Given the description of an element on the screen output the (x, y) to click on. 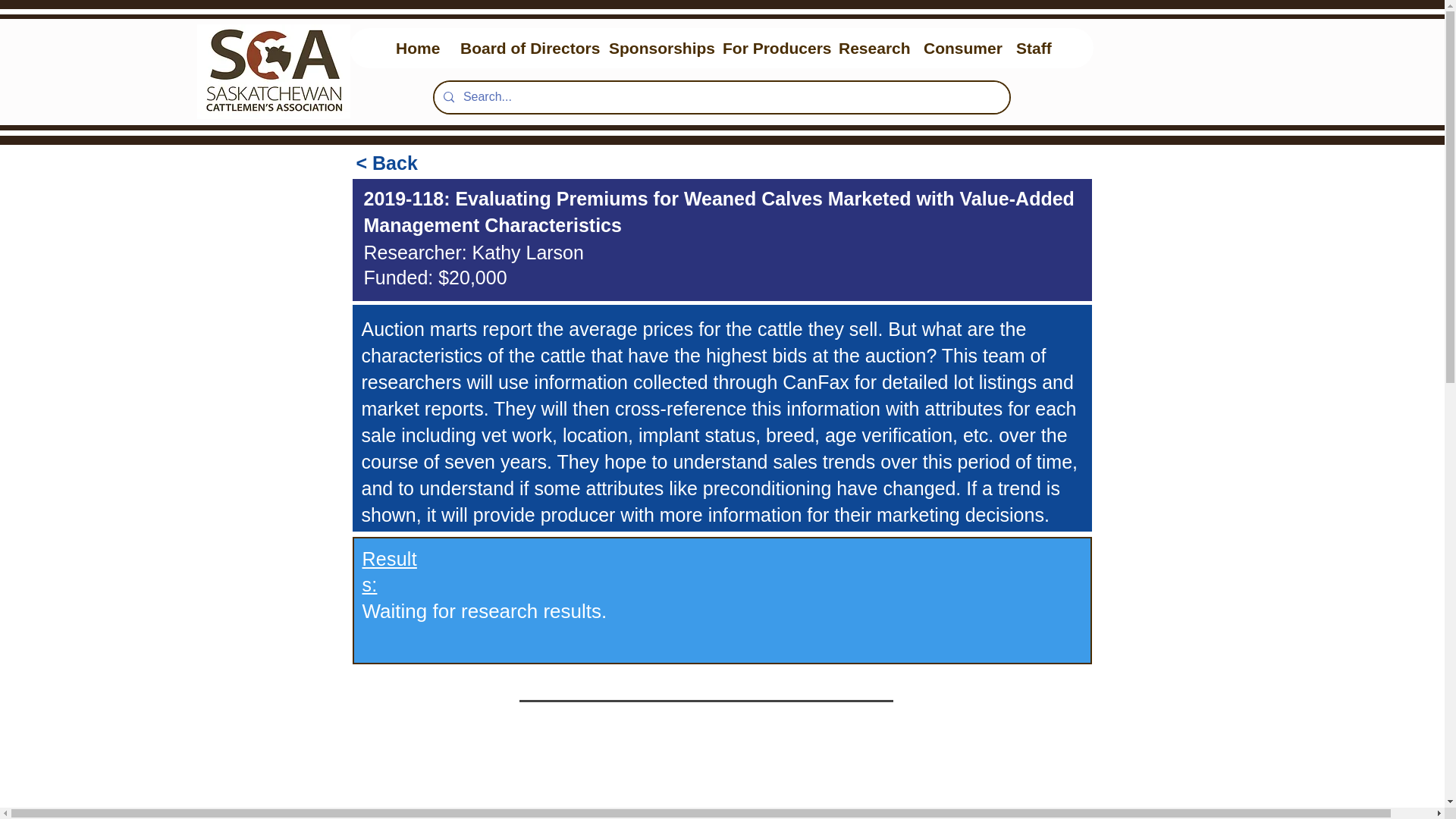
For Producers (768, 47)
Research (869, 47)
Board of Directors (522, 47)
Staff (1031, 47)
Consumer (957, 47)
Sponsorships (653, 47)
Home (416, 47)
